Given the description of an element on the screen output the (x, y) to click on. 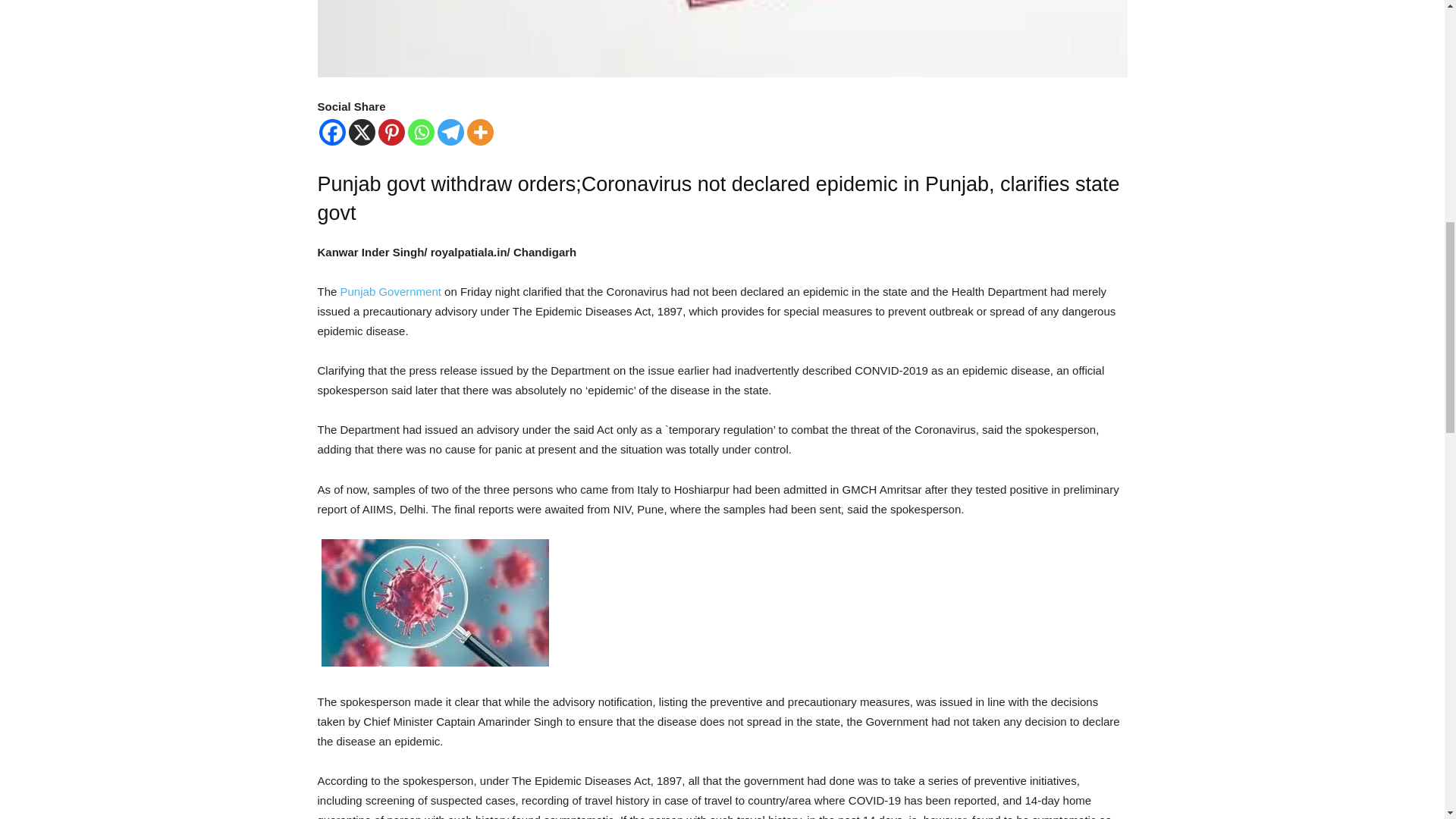
Facebook (331, 131)
X (362, 131)
